Given the description of an element on the screen output the (x, y) to click on. 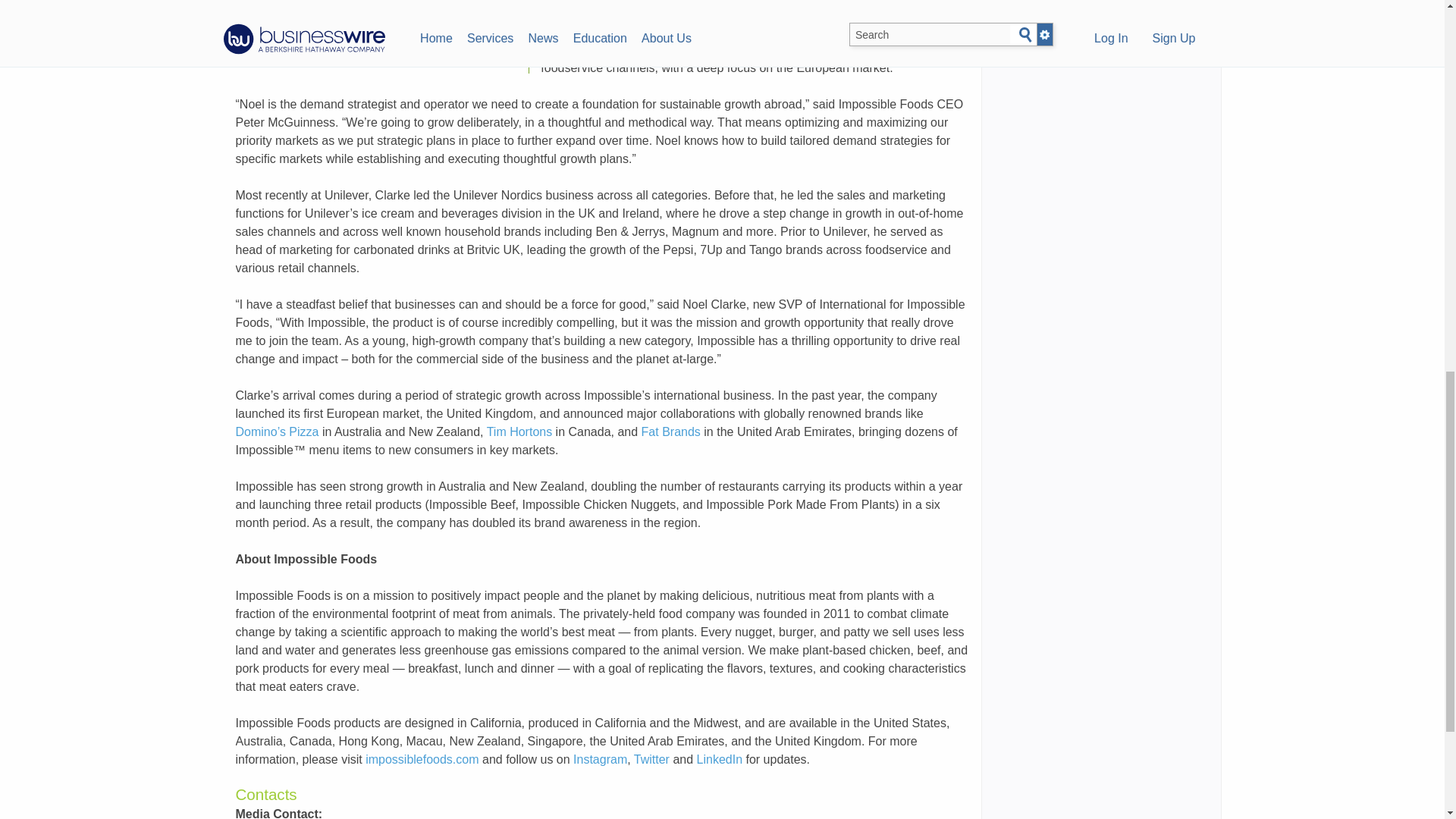
Post this (269, 54)
Tim Hortons (519, 431)
impossiblefoods.com (422, 758)
Twitter (651, 758)
Fat Brands (671, 431)
Instagram (600, 758)
LinkedIn (719, 758)
